Given the description of an element on the screen output the (x, y) to click on. 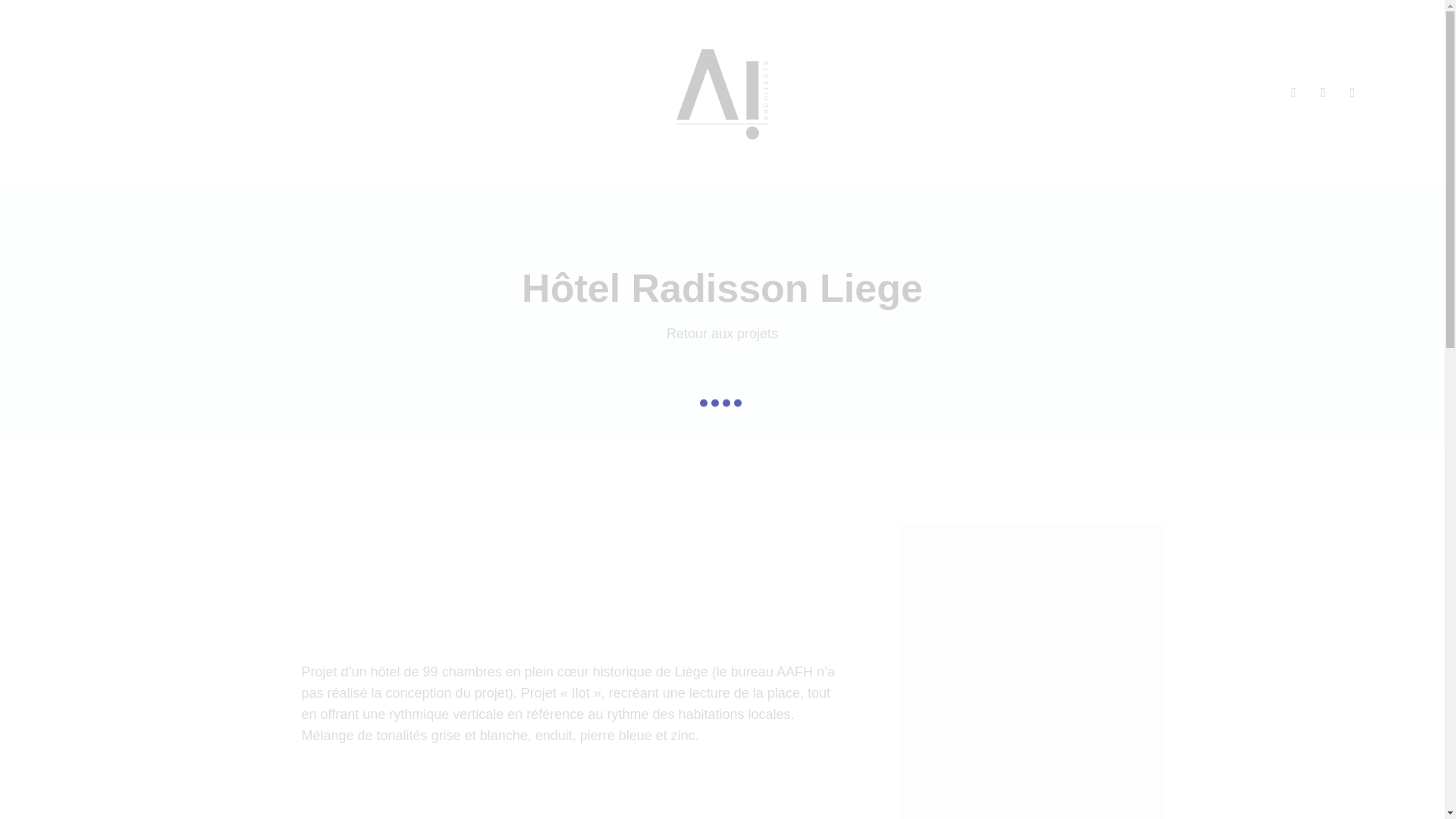
Retour aux projets Element type: text (722, 333)
